Given the description of an element on the screen output the (x, y) to click on. 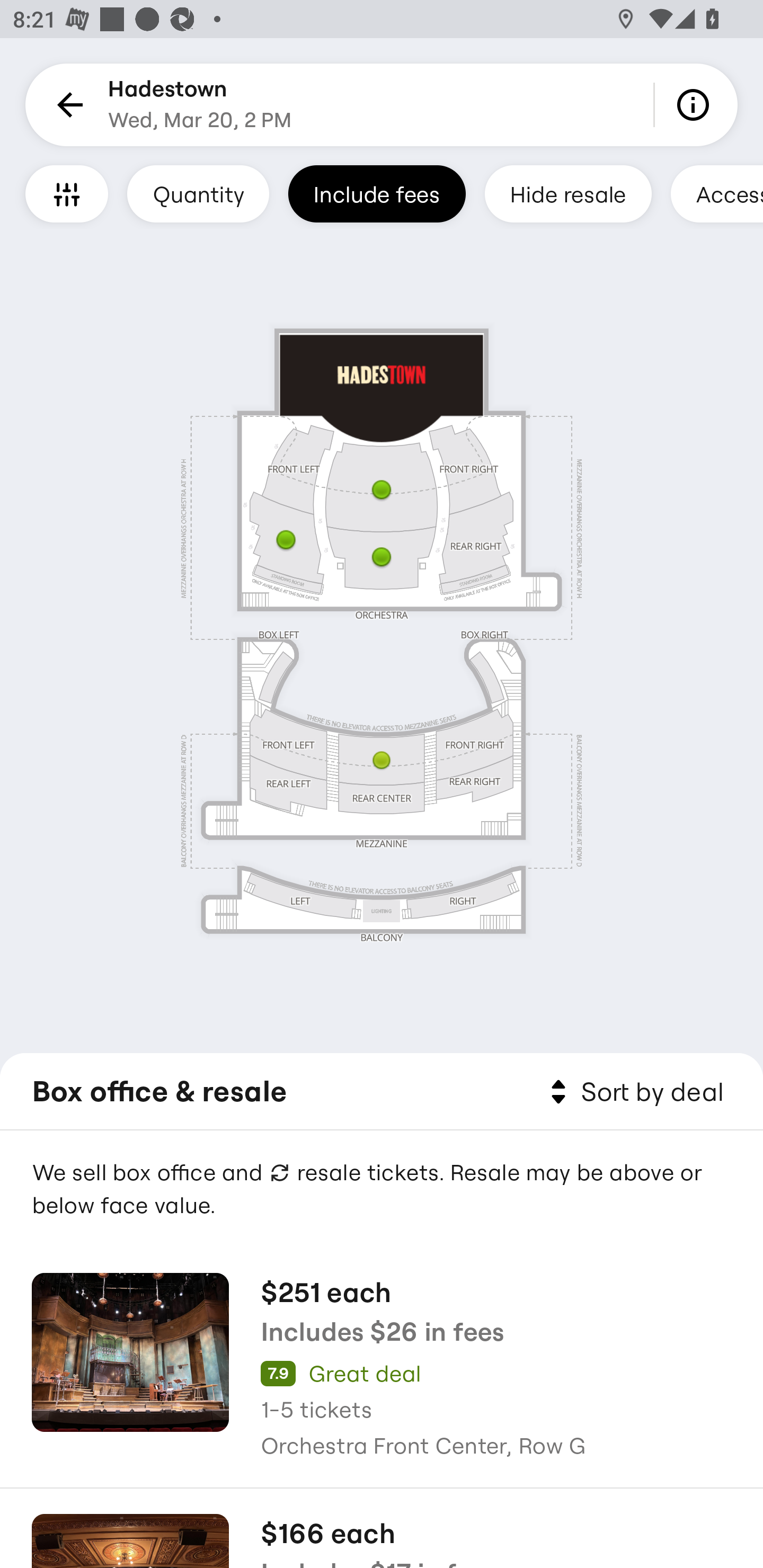
Back (66, 104)
Hadestown Wed, Mar 20, 2 PM (200, 104)
Info (695, 104)
Filters and Accessible Seating (66, 193)
Quantity (198, 193)
Include fees (376, 193)
Hide resale (567, 193)
Access code (716, 193)
Sort by deal (633, 1091)
